Given the description of an element on the screen output the (x, y) to click on. 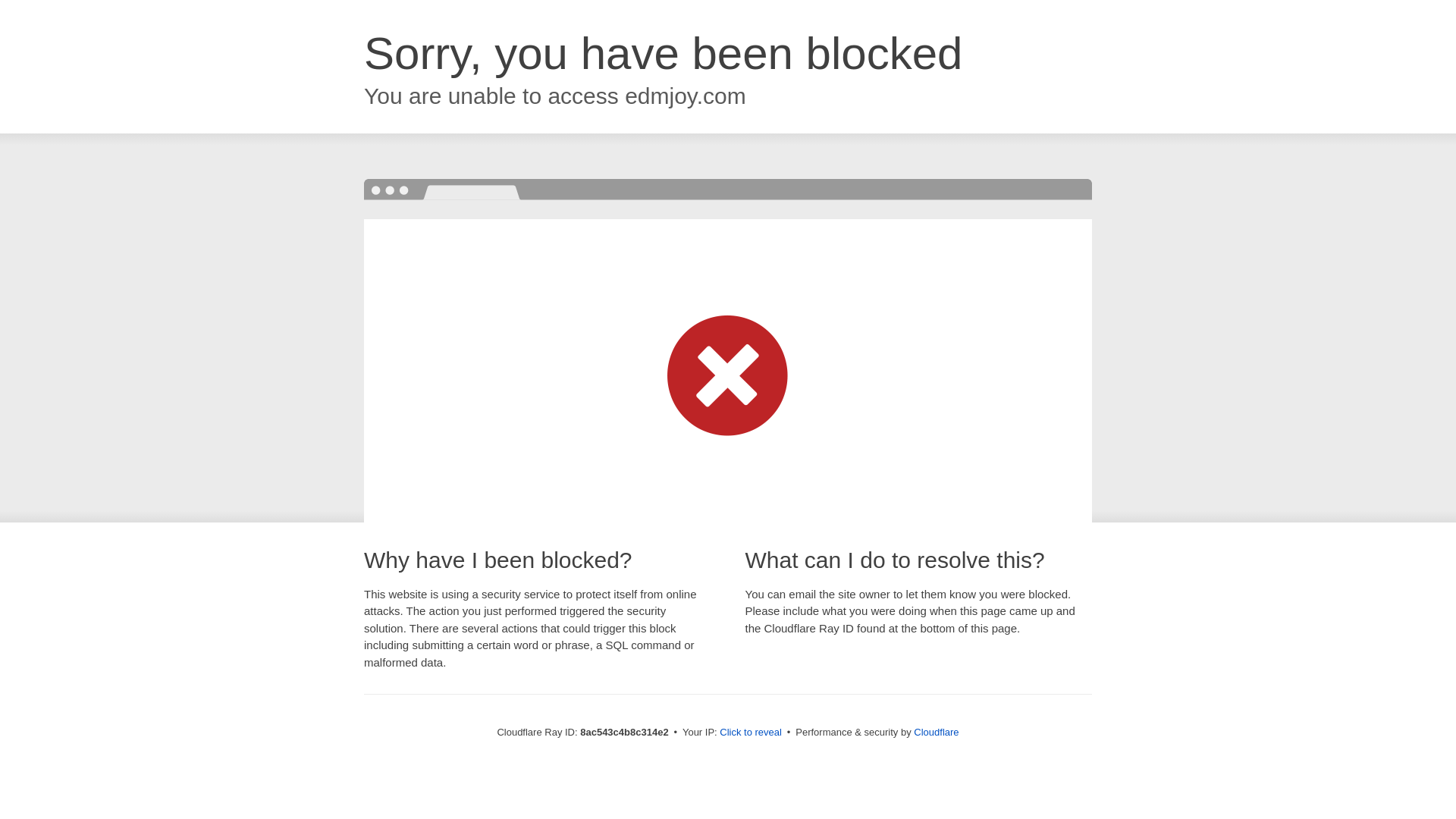
Cloudflare (936, 731)
Click to reveal (750, 732)
